Given the description of an element on the screen output the (x, y) to click on. 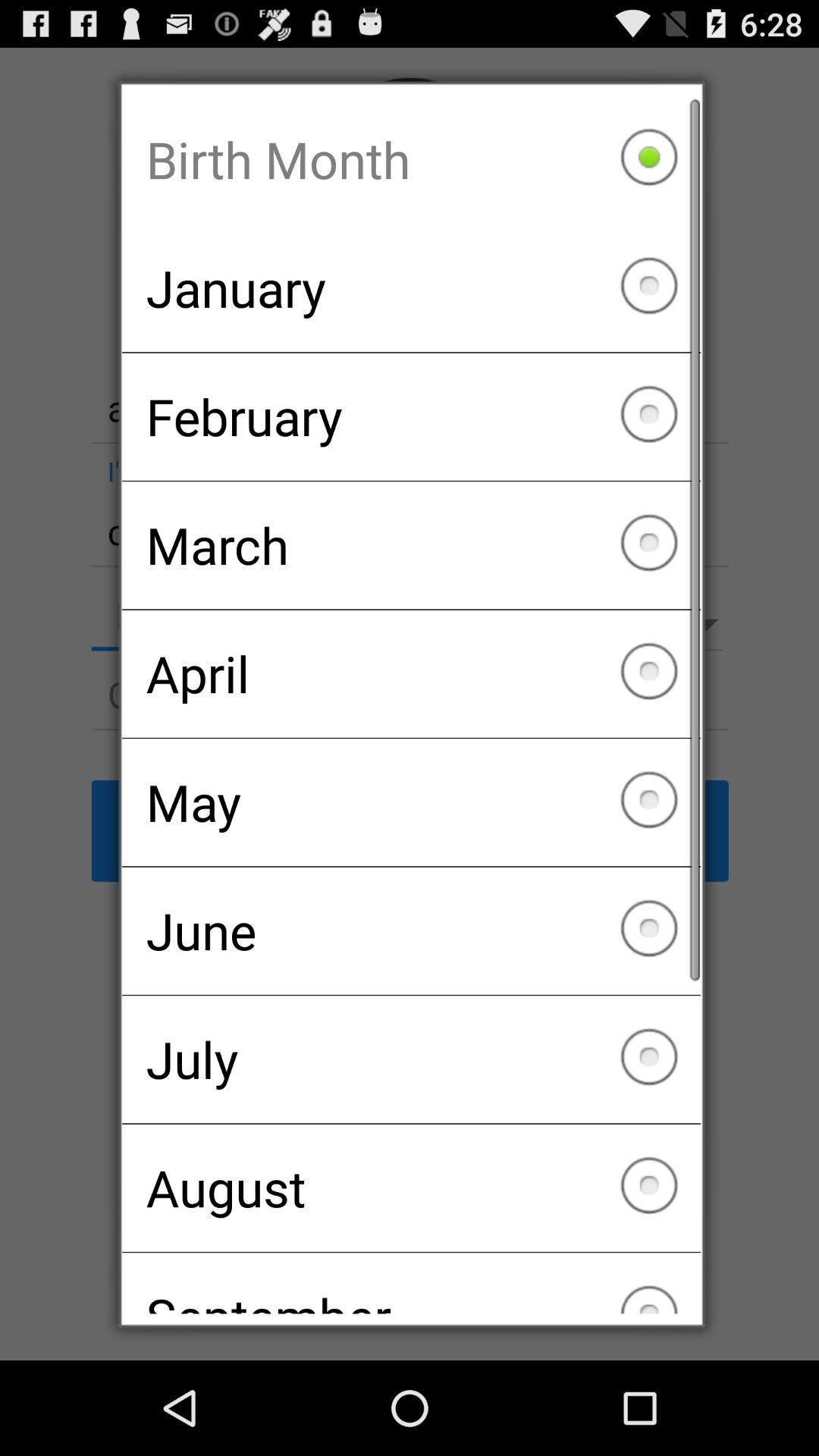
open the july checkbox (411, 1059)
